Given the description of an element on the screen output the (x, y) to click on. 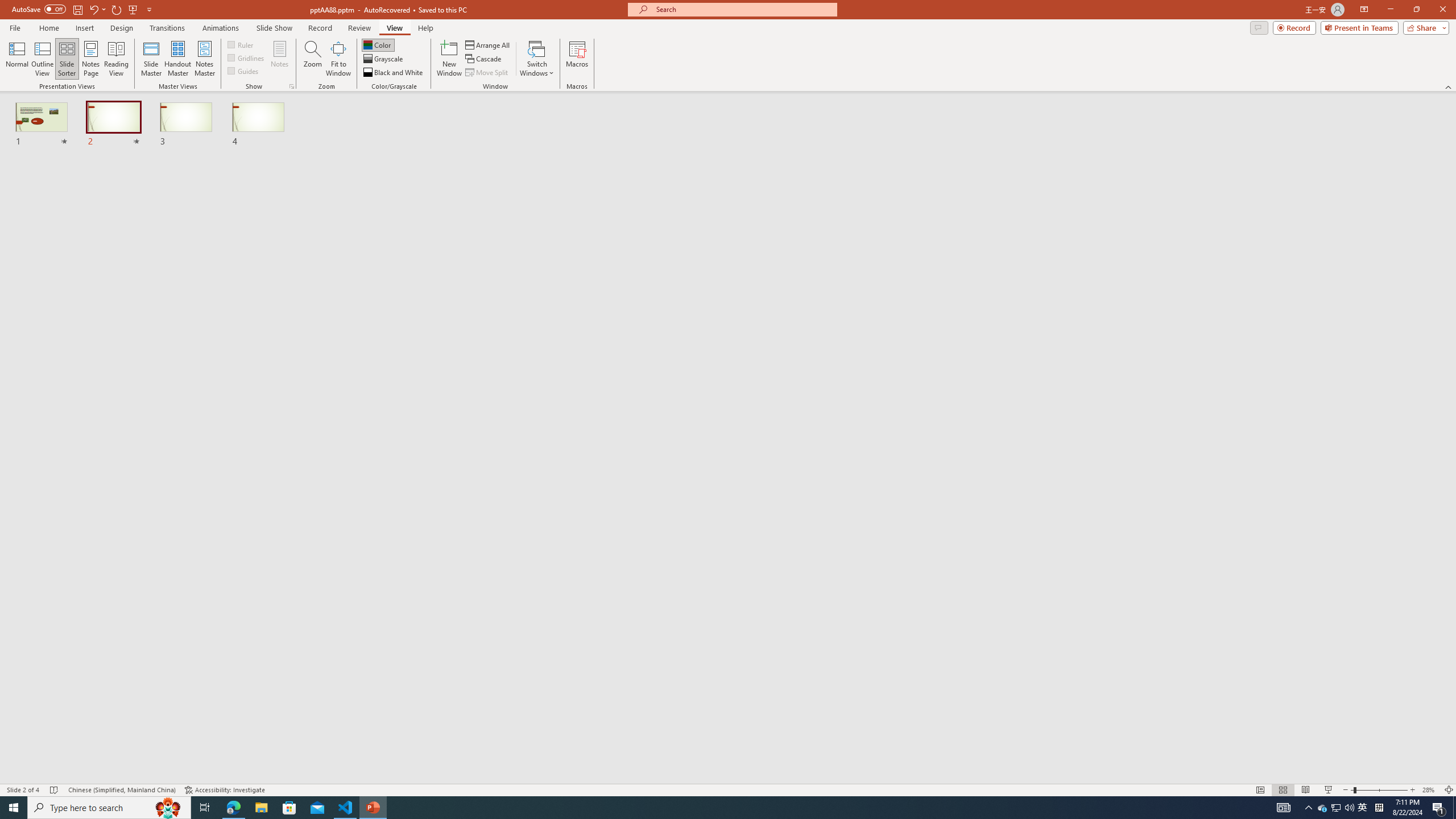
Grid Settings... (291, 85)
Zoom 28% (1430, 790)
Macros (576, 58)
Switch Windows (537, 58)
Guides (243, 69)
Move Split (487, 72)
